Given the description of an element on the screen output the (x, y) to click on. 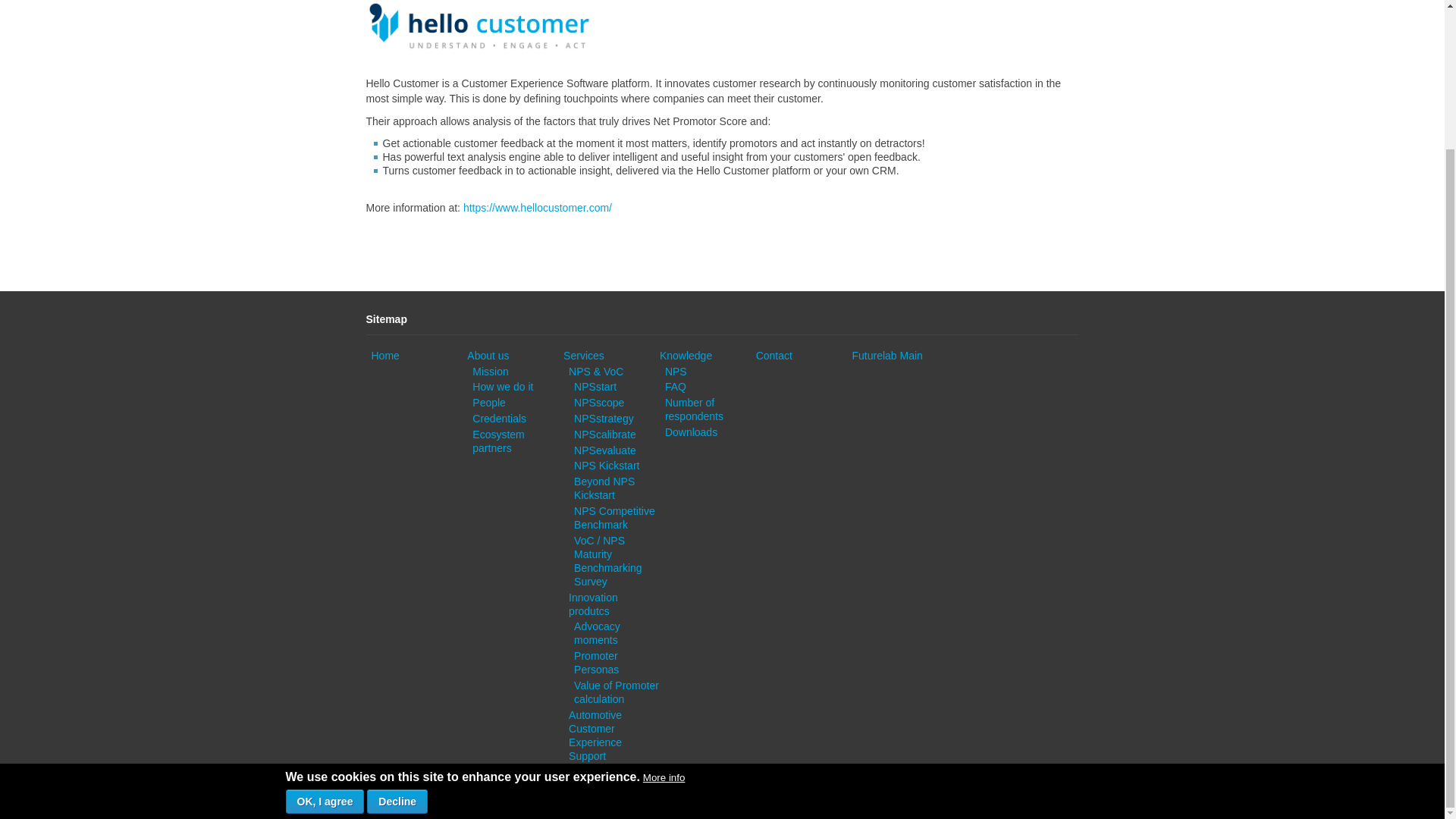
How many responses do I need? (694, 409)
People (488, 402)
Home (384, 355)
How we do it (501, 386)
Mission (489, 371)
Our mission (489, 371)
About us (487, 355)
